Given the description of an element on the screen output the (x, y) to click on. 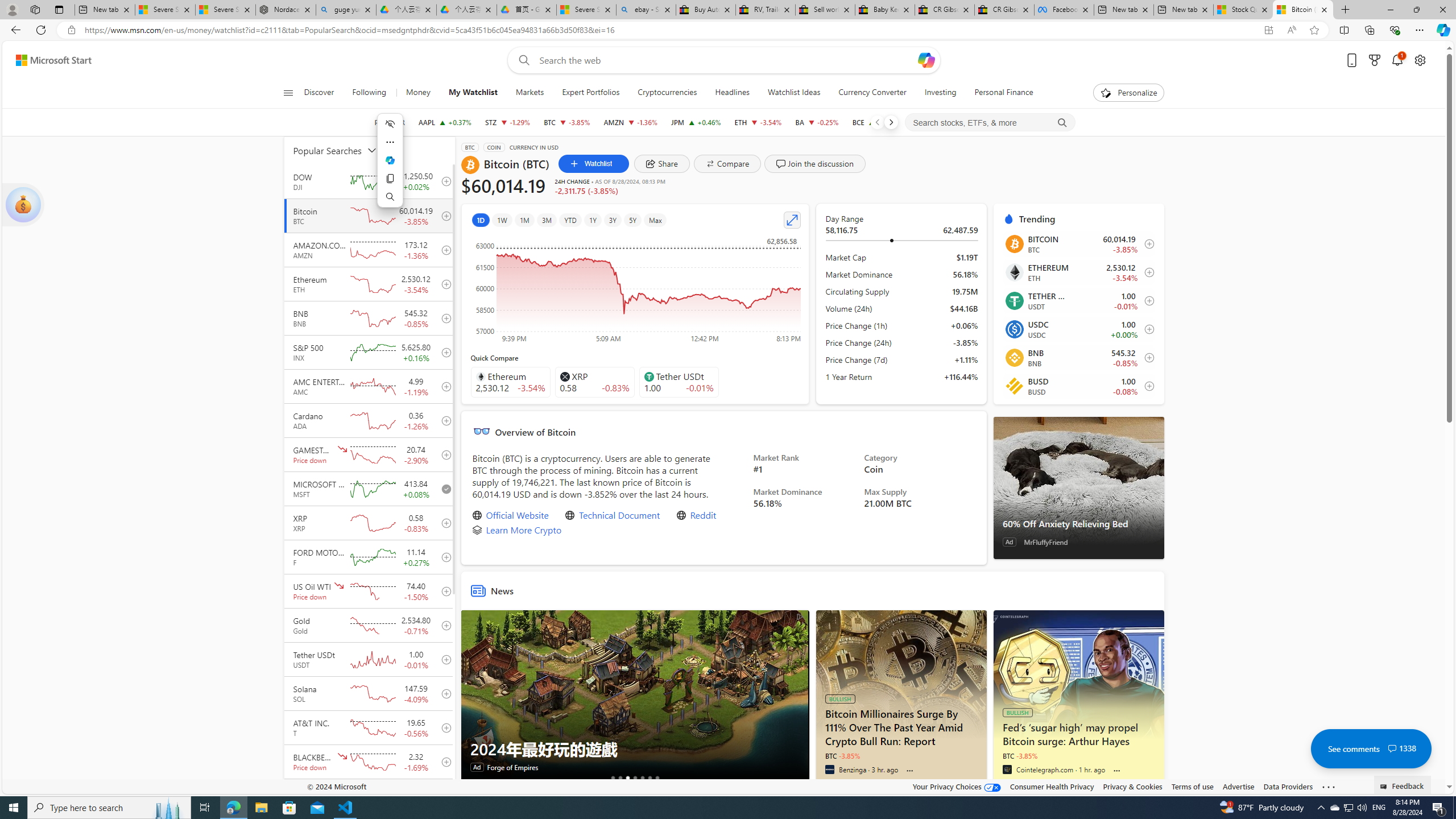
Hide menu (390, 123)
Investing (940, 92)
STZ CONSTELLATION BRANDS, INC. decrease 239.98 -3.13 -1.29% (507, 122)
Sell worldwide with eBay (825, 9)
See comments 1338 (1370, 748)
Popular Searches (341, 150)
